Given the description of an element on the screen output the (x, y) to click on. 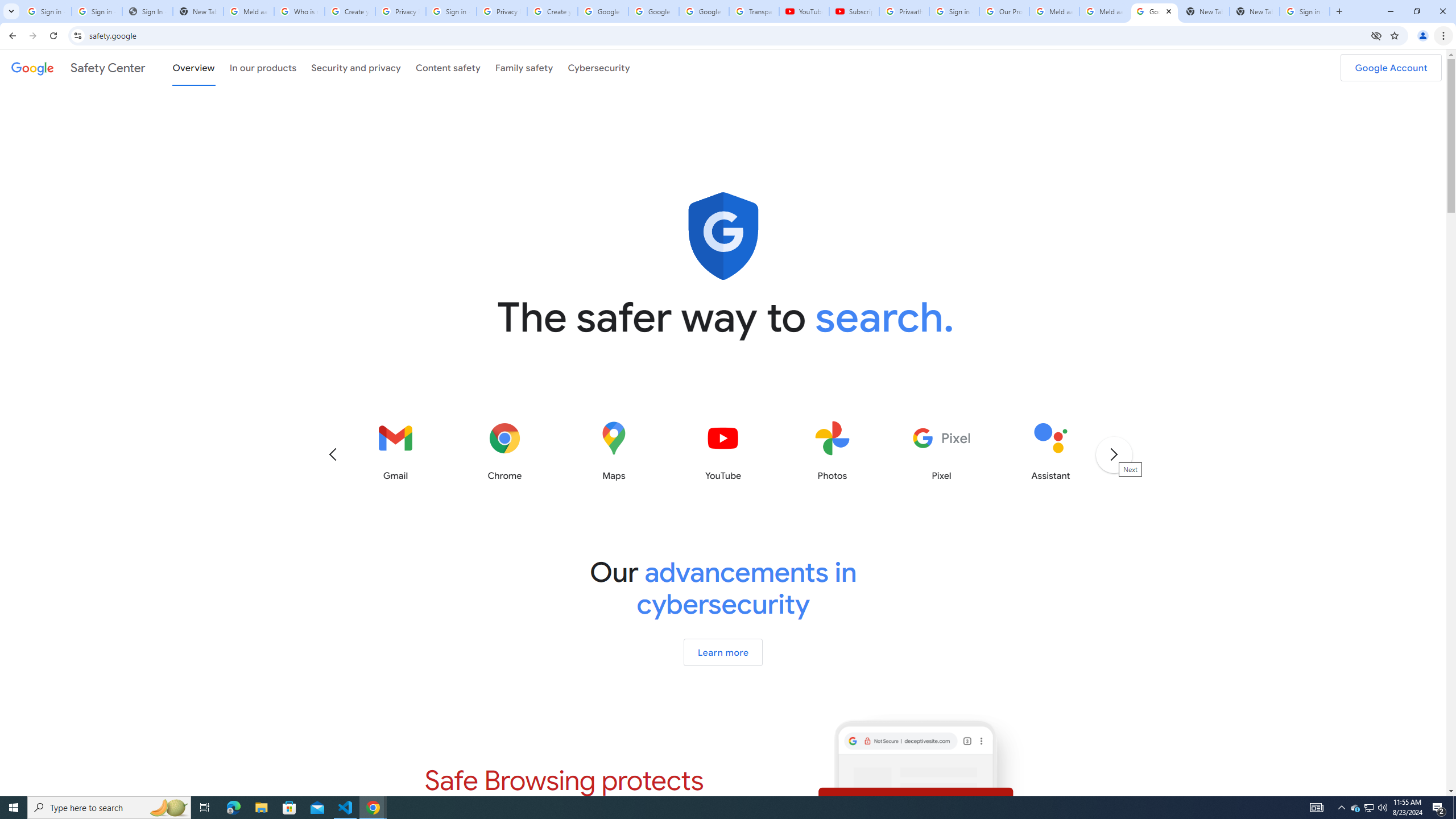
Google Account (703, 11)
Sign in - Google Accounts (97, 11)
Next (1112, 453)
Previous (332, 453)
Family safety (523, 67)
Google Account (1390, 67)
Google Safety Center - Stay Safer Online (1154, 11)
